Given the description of an element on the screen output the (x, y) to click on. 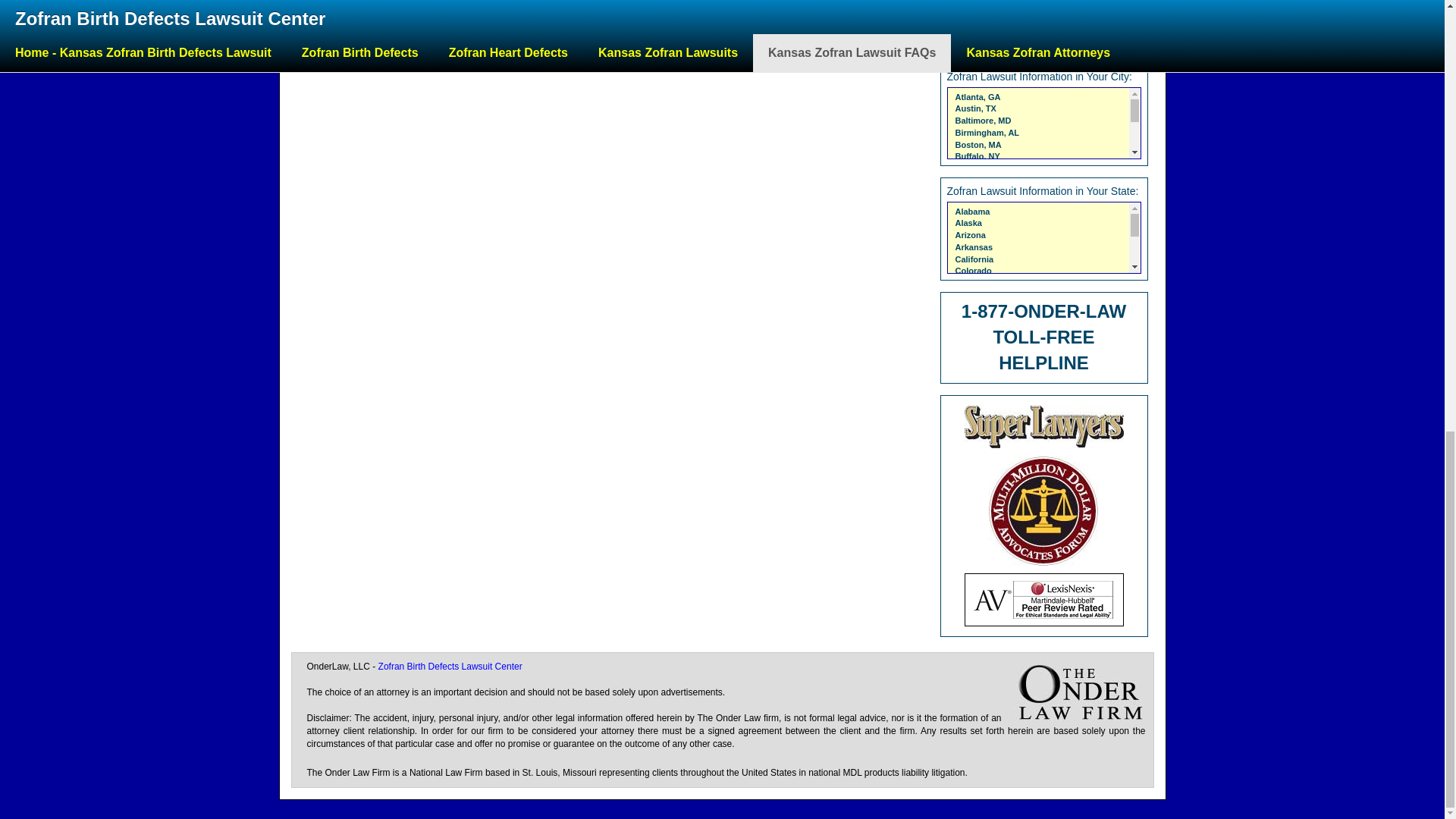
Zofran Lawsuit News (1043, 36)
New York, NY (982, 441)
Detroit, MI (975, 239)
Birmingham, AL (987, 132)
Minneapolis, MN (988, 406)
Cleveland (983, 191)
Cincinnati, OH (984, 180)
Louisville, KY (982, 358)
Boston, MA (978, 144)
Memphis, TN (981, 370)
